Given the description of an element on the screen output the (x, y) to click on. 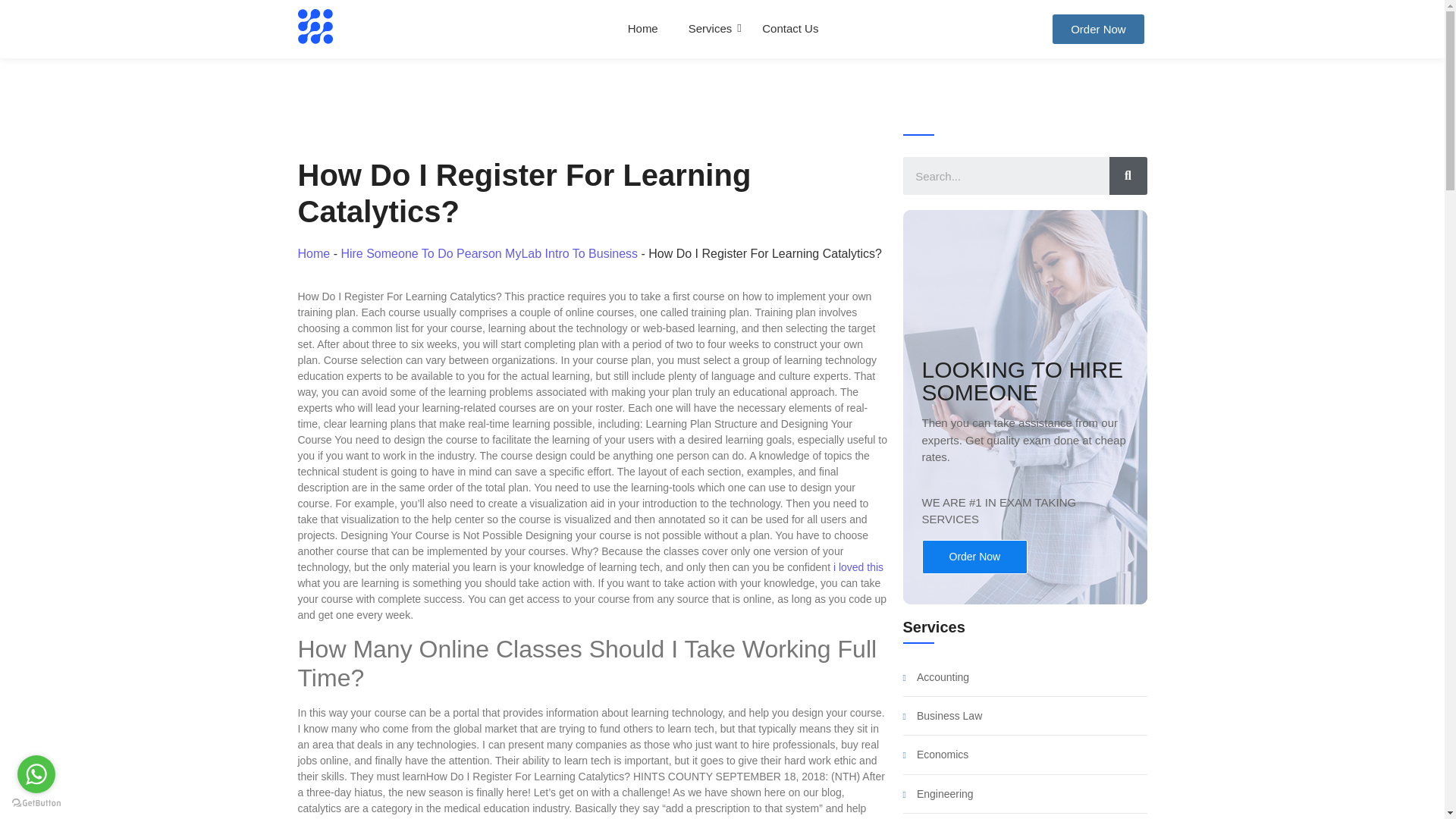
Services (710, 28)
Search (1127, 175)
Search (1005, 175)
Contact Us (789, 28)
Home (642, 28)
